Given the description of an element on the screen output the (x, y) to click on. 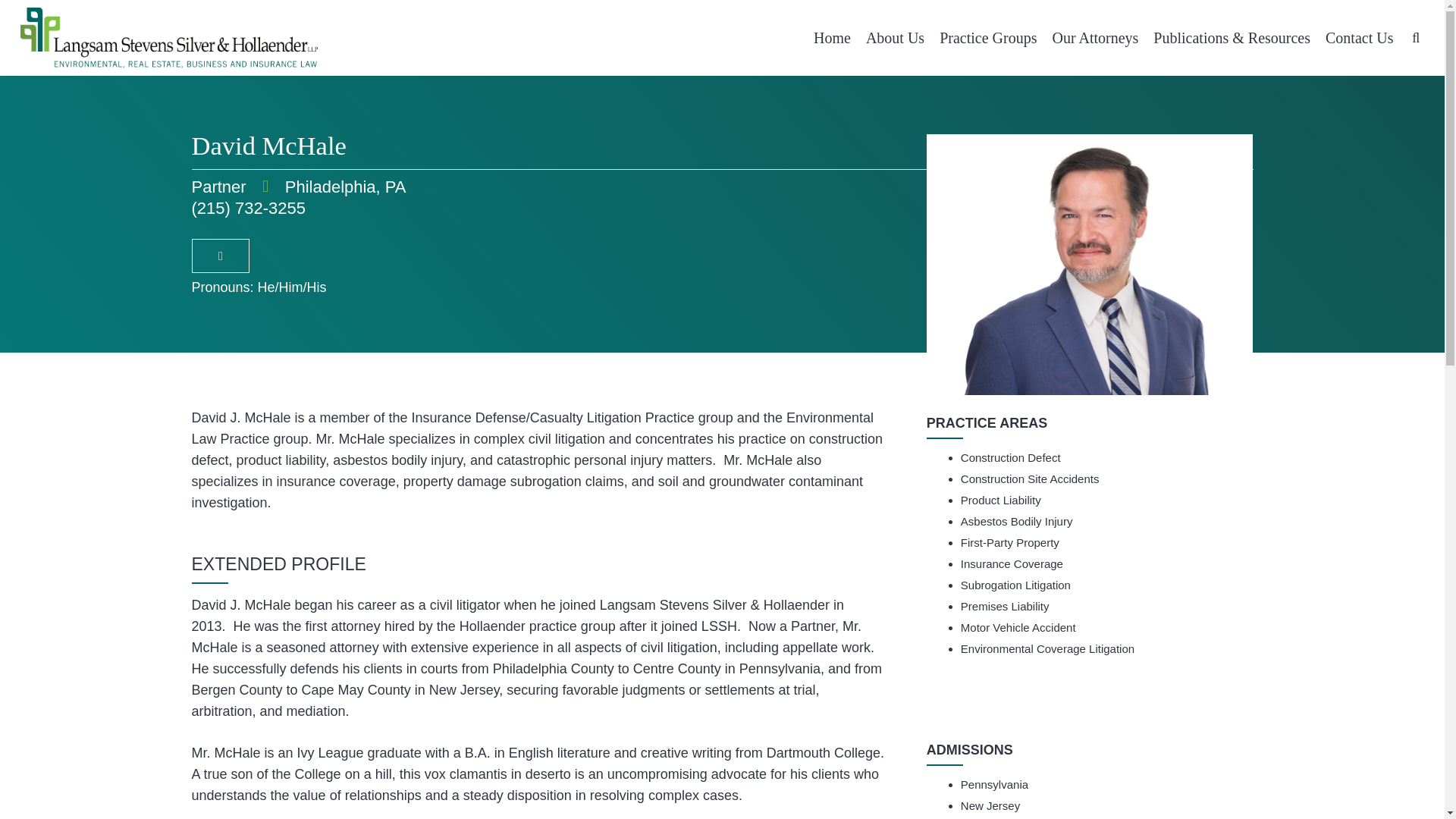
Practice Groups (987, 38)
LinkedIn (722, 688)
About Us (895, 38)
Our Attorneys (1094, 38)
215.732.3255 (621, 575)
856.727.0057 (897, 575)
Sitemap (1072, 780)
Contact Us (1358, 38)
Disclaimer (578, 780)
